Given the description of an element on the screen output the (x, y) to click on. 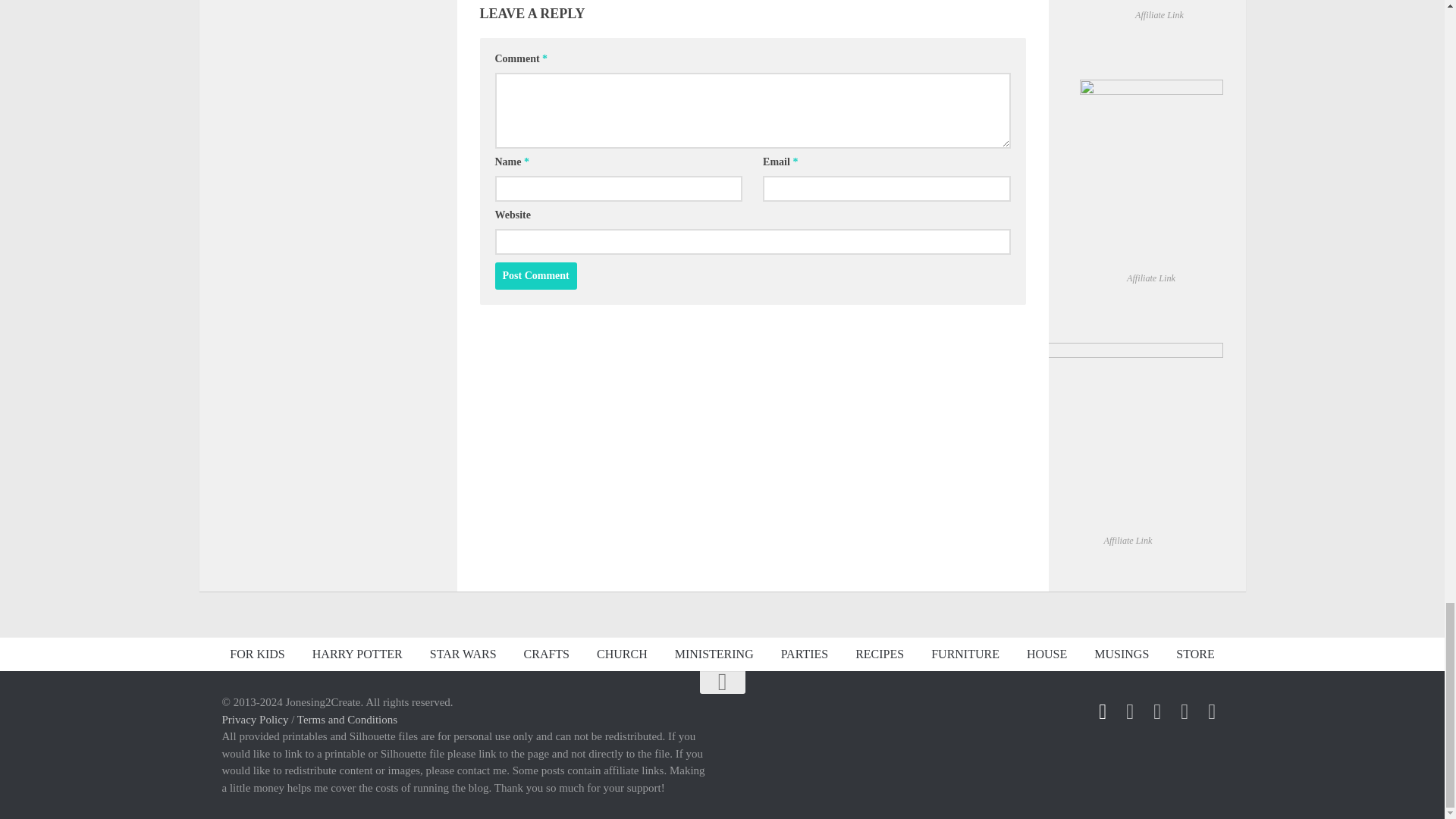
Post Comment (535, 275)
Pinterest (1212, 711)
Instagram (1157, 711)
Rss (1184, 711)
Rss (1129, 711)
Facebook (1102, 711)
